Given the description of an element on the screen output the (x, y) to click on. 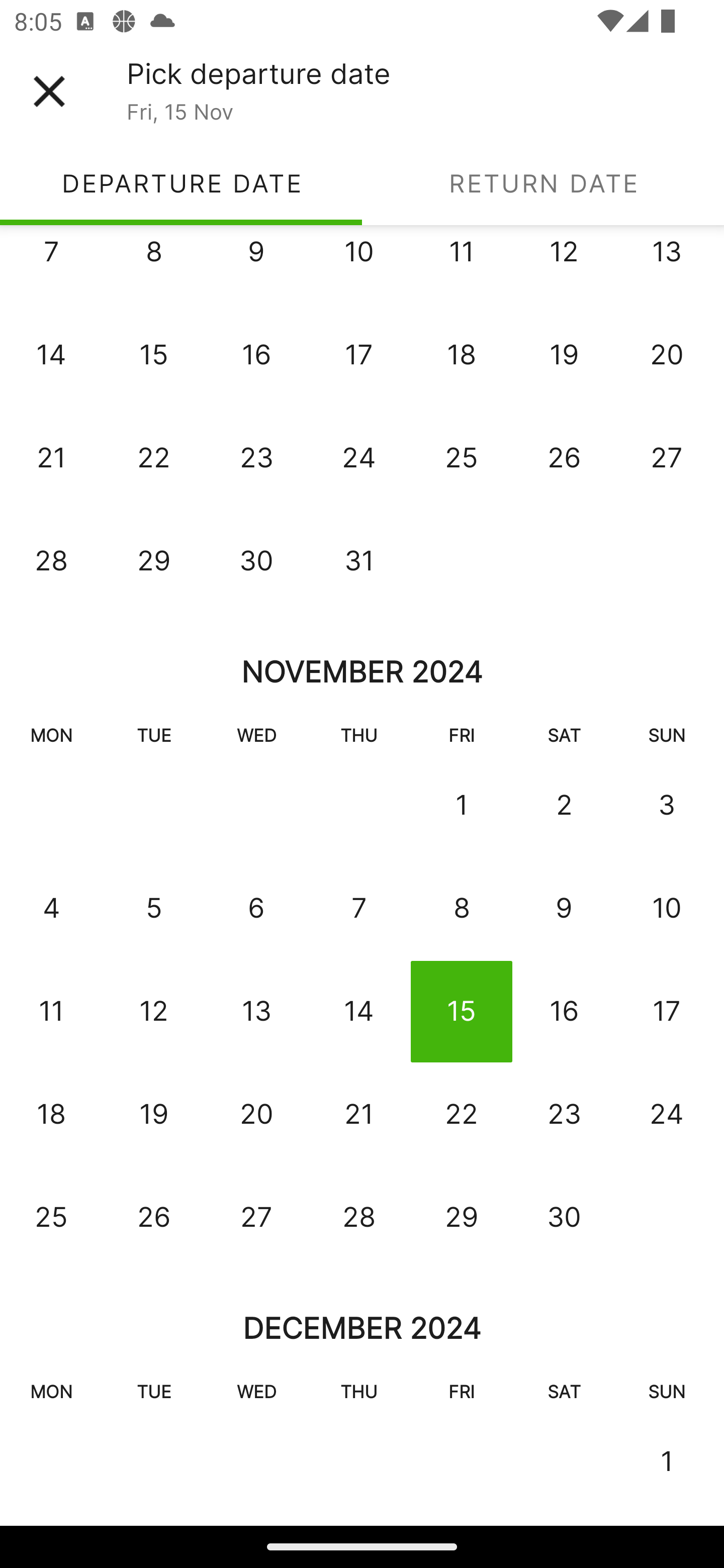
Return Date RETURN DATE (543, 183)
